Given the description of an element on the screen output the (x, y) to click on. 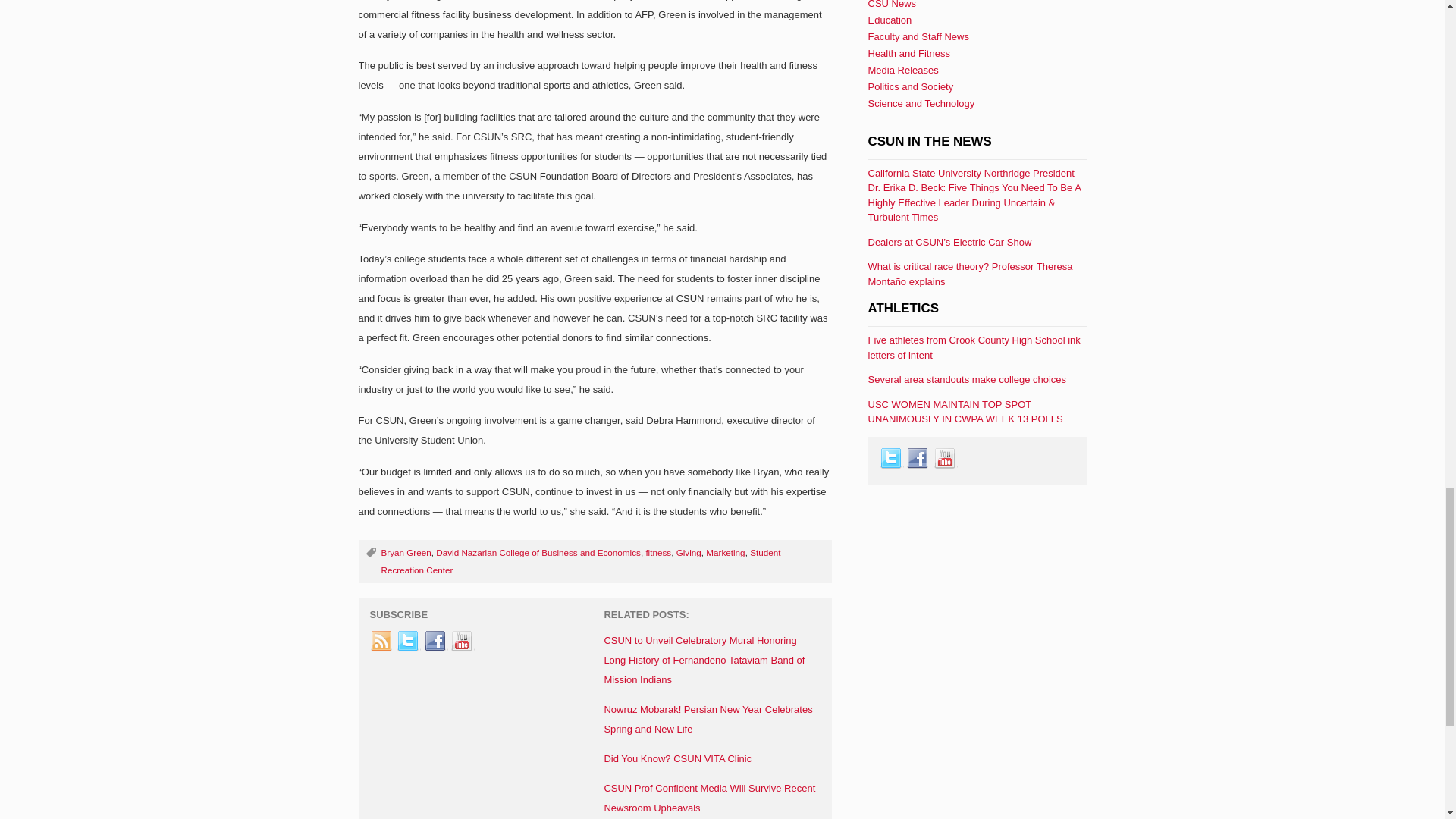
Student Recreation Center (580, 560)
Did You Know? CSUN VITA Clinic (677, 758)
YouTube (461, 640)
fitness (658, 552)
David Nazarian College of Business and Economics (537, 552)
Facebook (435, 640)
Twitter (408, 640)
Marketing (725, 552)
RSS (381, 640)
Giving (689, 552)
Bryan Green (405, 552)
